Given the description of an element on the screen output the (x, y) to click on. 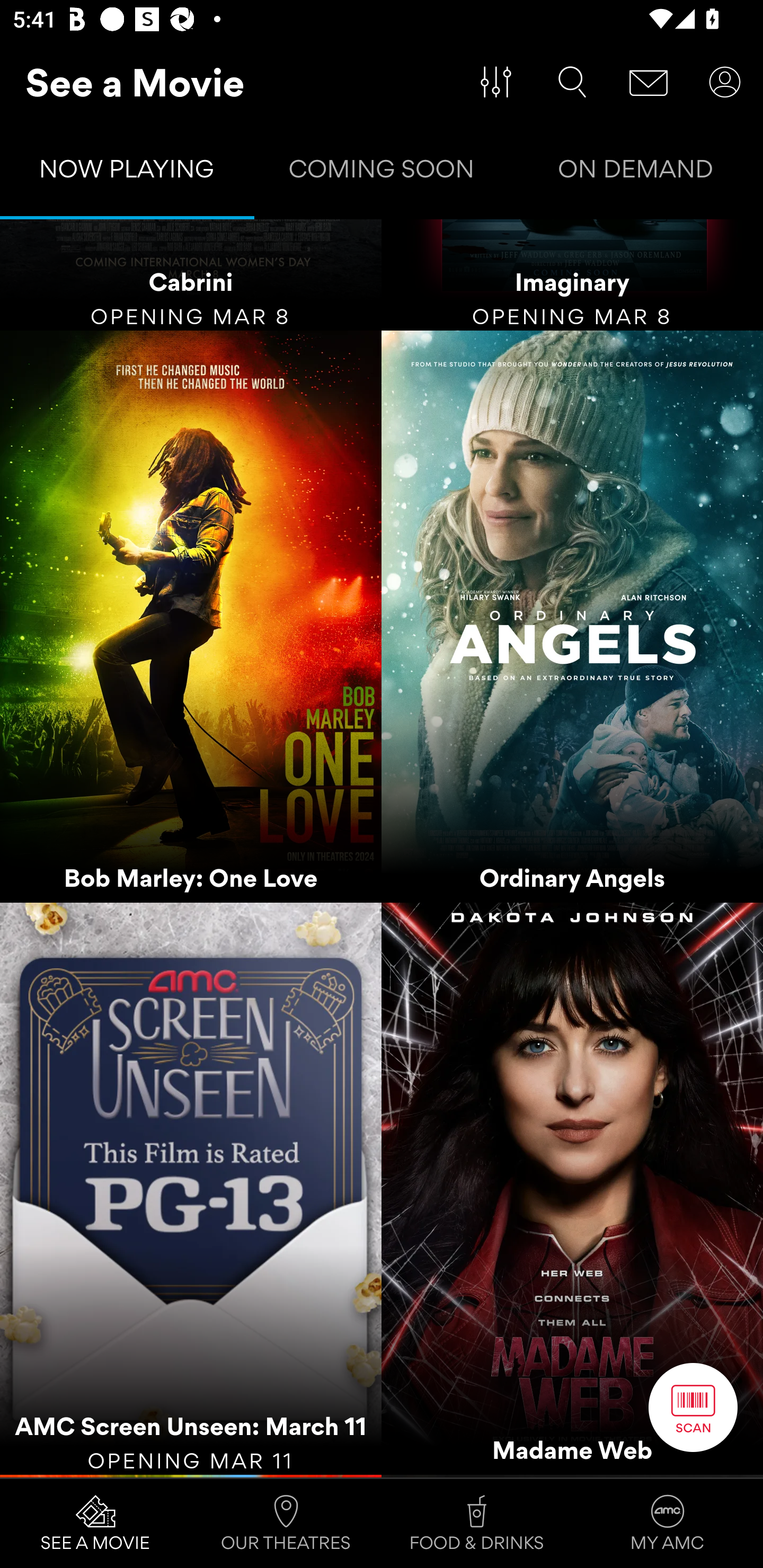
Filter Movies (495, 82)
Search (572, 82)
Message Center (648, 82)
User Account (724, 82)
NOW PLAYING
Tab 1 of 3 (127, 173)
COMING SOON
Tab 2 of 3 (381, 173)
ON DEMAND
Tab 3 of 3 (635, 173)
Cabrini
OPENING MAR 8 (190, 274)
Imaginary
OPENING MAR 8 (572, 274)
Bob Marley: One Love (190, 616)
Ordinary Angels (572, 616)
AMC Screen Unseen: March 11
OPENING MAR 11 (190, 1189)
Madame Web (572, 1189)
Scan Button (692, 1406)
SEE A MOVIE
Tab 1 of 4 (95, 1523)
OUR THEATRES
Tab 2 of 4 (285, 1523)
FOOD & DRINKS
Tab 3 of 4 (476, 1523)
MY AMC
Tab 4 of 4 (667, 1523)
